Given the description of an element on the screen output the (x, y) to click on. 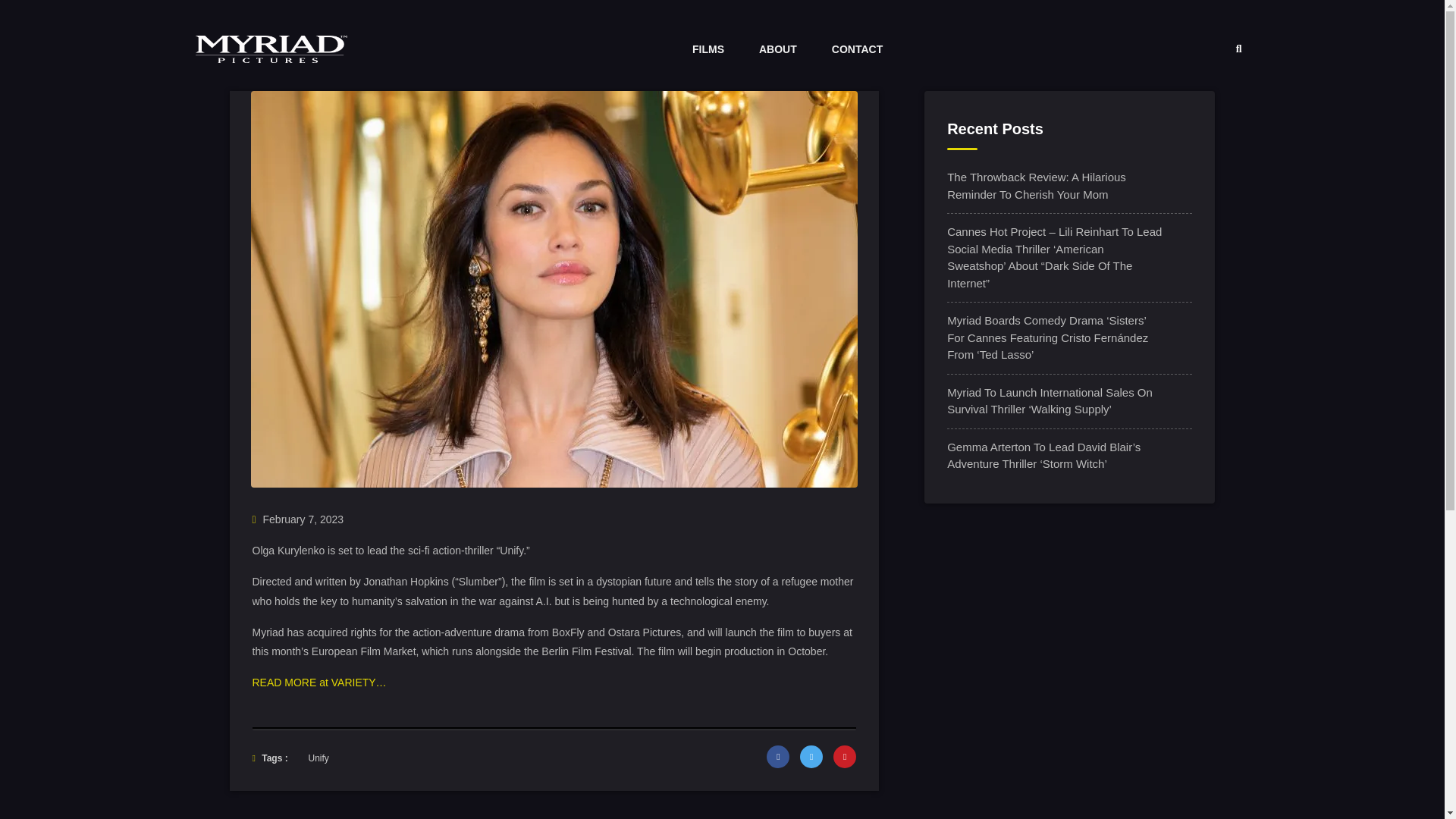
Films (708, 49)
CONTACT (856, 49)
ABOUT (777, 49)
Unify (318, 757)
About (777, 49)
Contact (856, 49)
FILMS (708, 49)
